Given the description of an element on the screen output the (x, y) to click on. 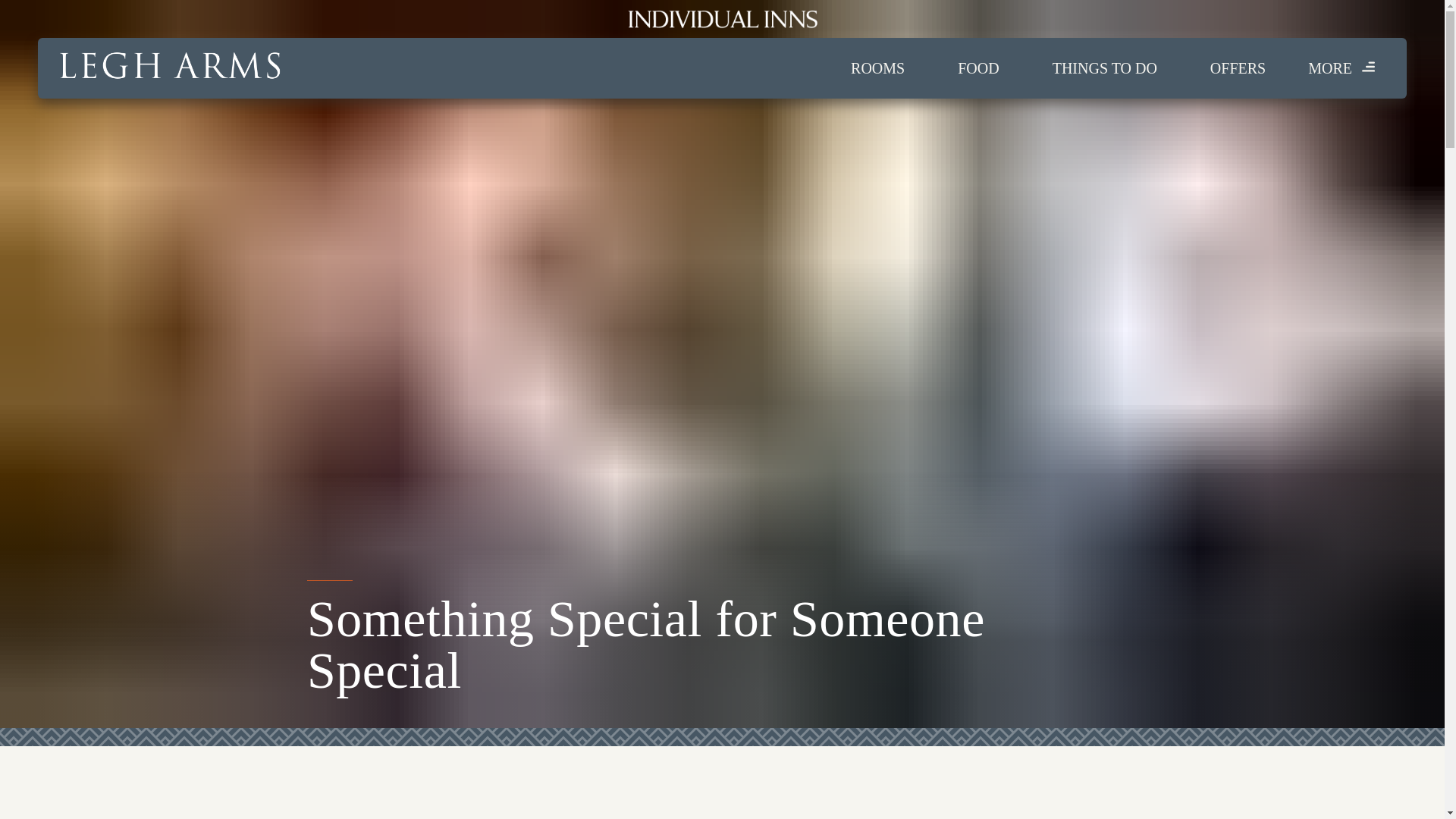
MORE (1342, 68)
FOOD (978, 68)
ROOMS (877, 68)
OFFERS (1237, 68)
THINGS TO DO (1104, 68)
